Given the description of an element on the screen output the (x, y) to click on. 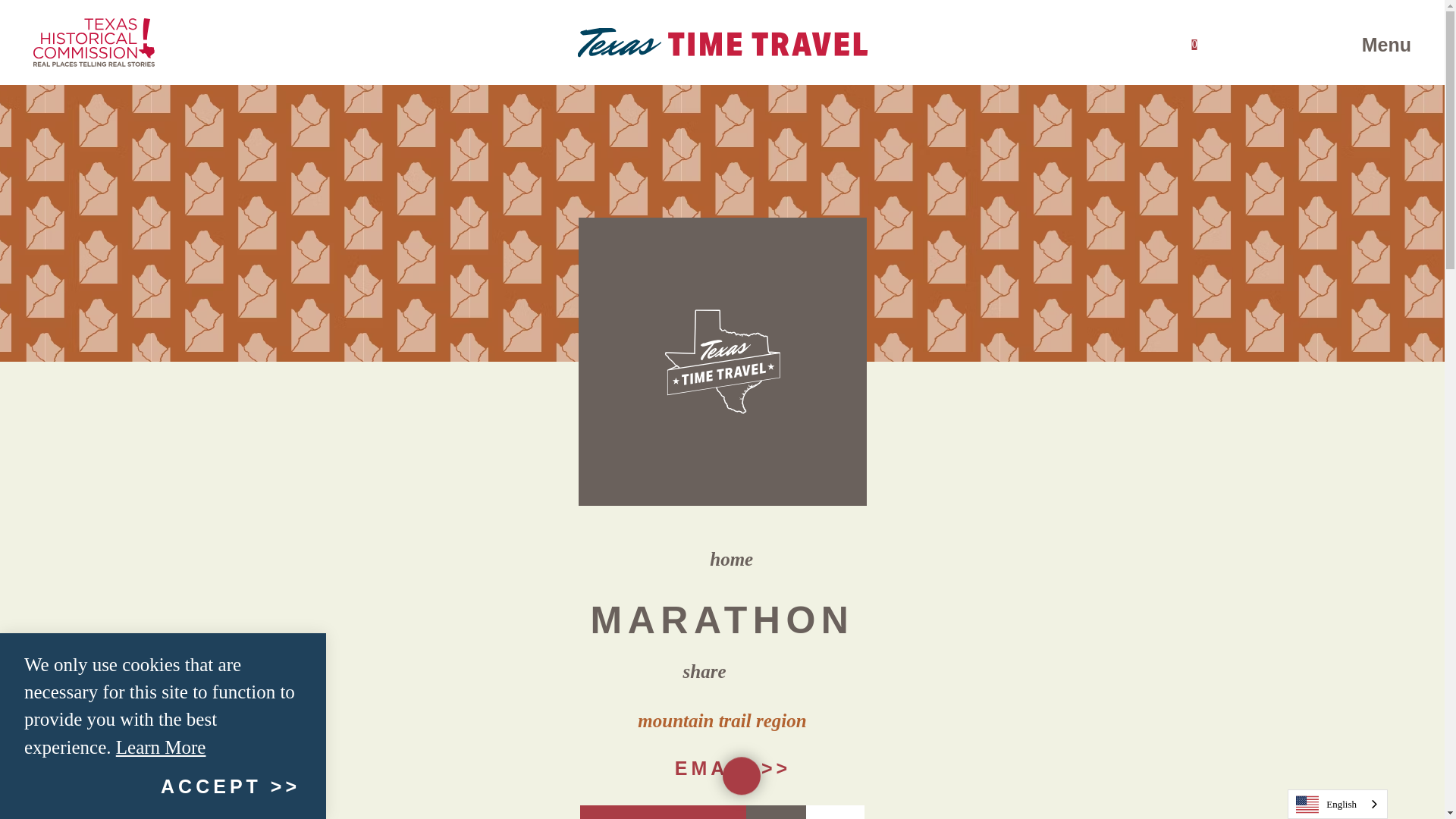
Skip to content (722, 42)
0 (17, 15)
EMAIL (1194, 42)
Menu (722, 768)
Map (1376, 44)
WEBSITE (835, 812)
Menu (662, 812)
home (1348, 41)
Save (720, 559)
share (775, 812)
